Given the description of an element on the screen output the (x, y) to click on. 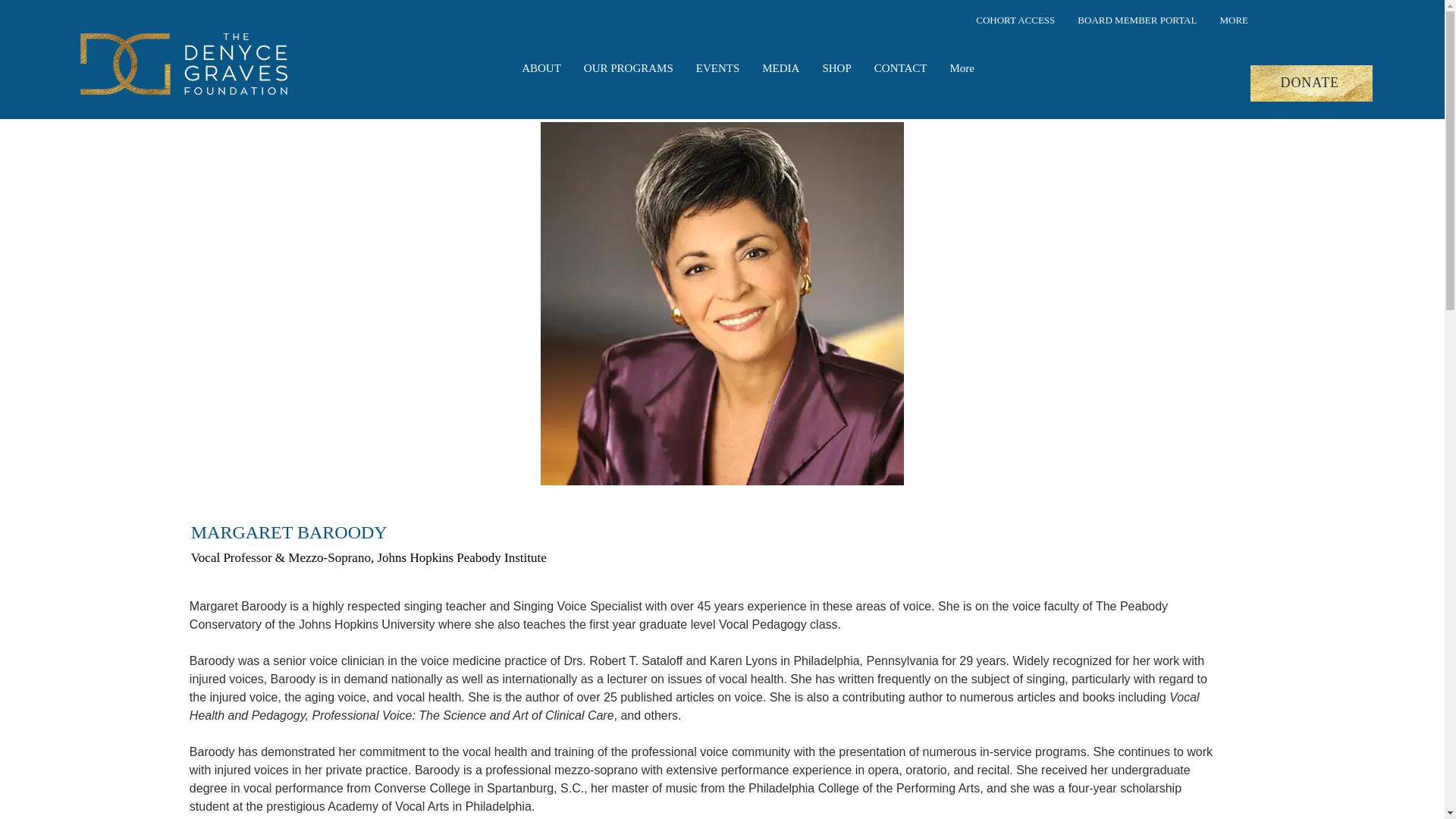
SHOP (835, 83)
ABOUT (541, 83)
DONATE (1311, 83)
EVENTS (717, 83)
CONTACT (901, 83)
COHORT ACCESS (1014, 35)
MEDIA (780, 83)
BOARD MEMBER PORTAL (1136, 35)
